Given the description of an element on the screen output the (x, y) to click on. 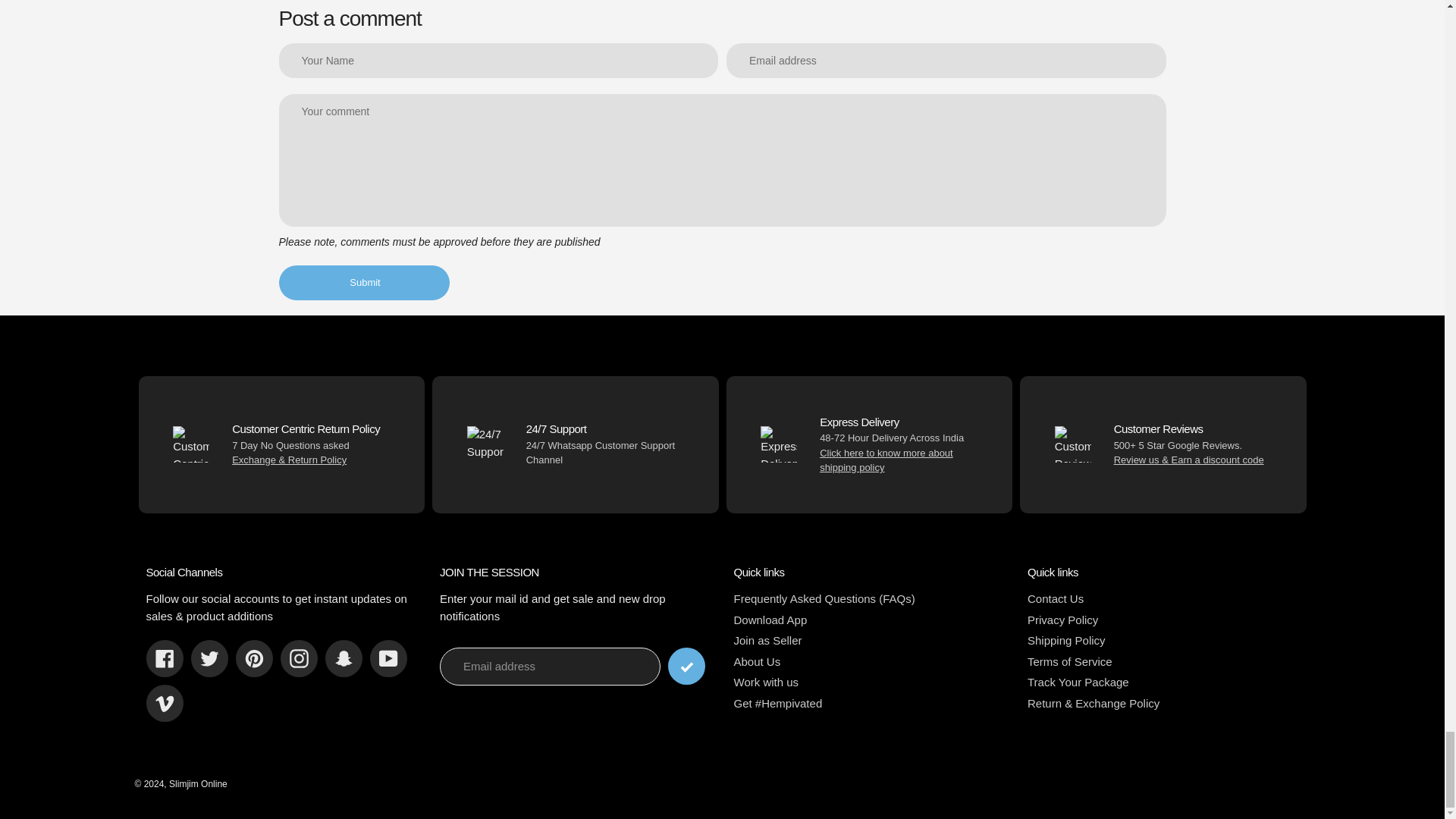
Submit (364, 282)
